Given the description of an element on the screen output the (x, y) to click on. 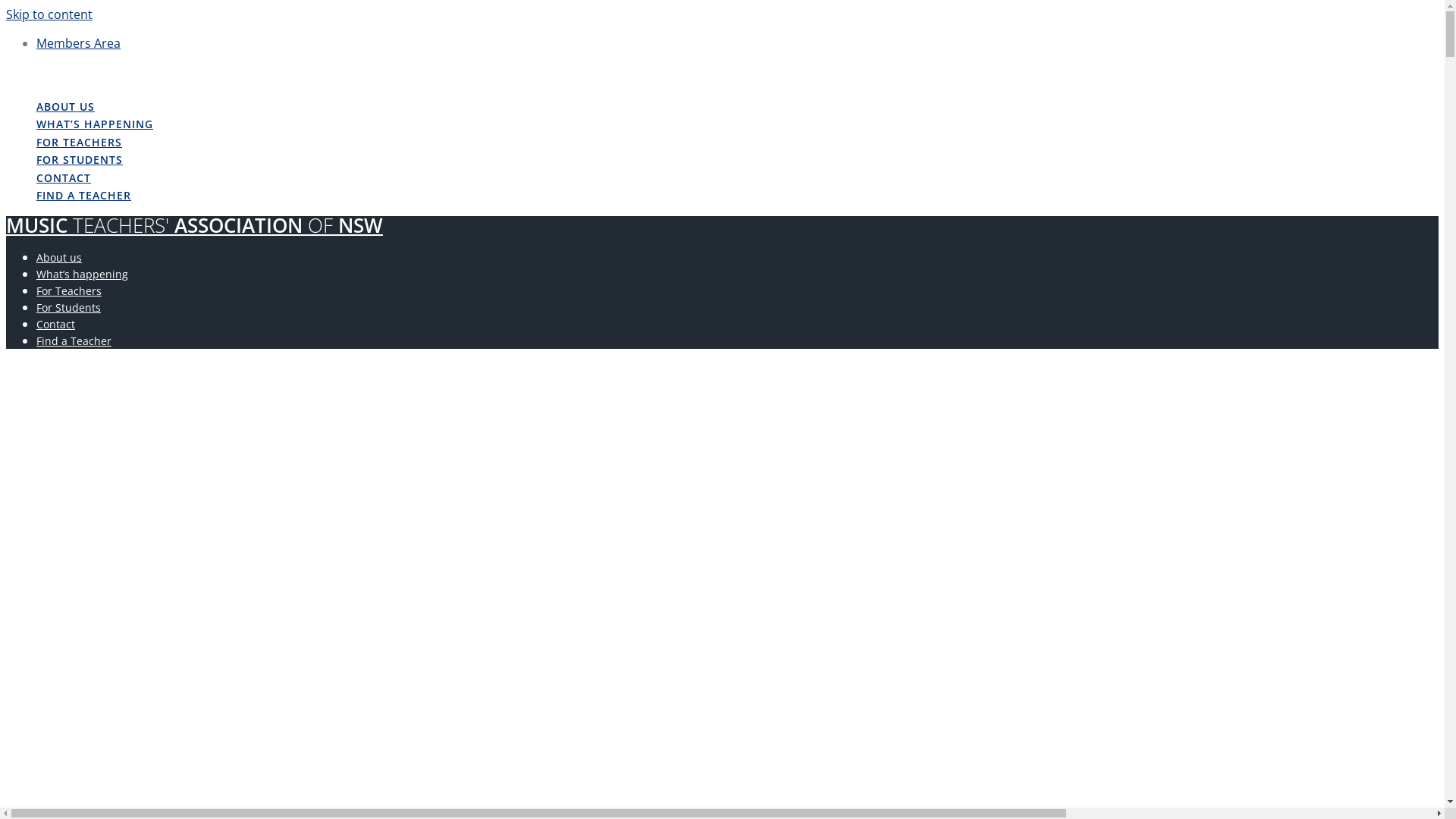
For Teachers Element type: text (68, 290)
MUSIC TEACHERS' ASSOCIATION OF NSW Element type: text (194, 74)
FIND A TEACHER Element type: text (83, 196)
MUSIC TEACHERS' ASSOCIATION OF NSW Element type: text (194, 225)
Contact Element type: text (55, 323)
Members Area Element type: text (78, 42)
FOR STUDENTS Element type: text (79, 160)
Find a Teacher Element type: text (73, 340)
About us Element type: text (58, 257)
FOR TEACHERS Element type: text (79, 142)
CONTACT Element type: text (63, 178)
For Students Element type: text (68, 307)
ABOUT US Element type: text (65, 107)
Skip to content Element type: text (49, 14)
